Given the description of an element on the screen output the (x, y) to click on. 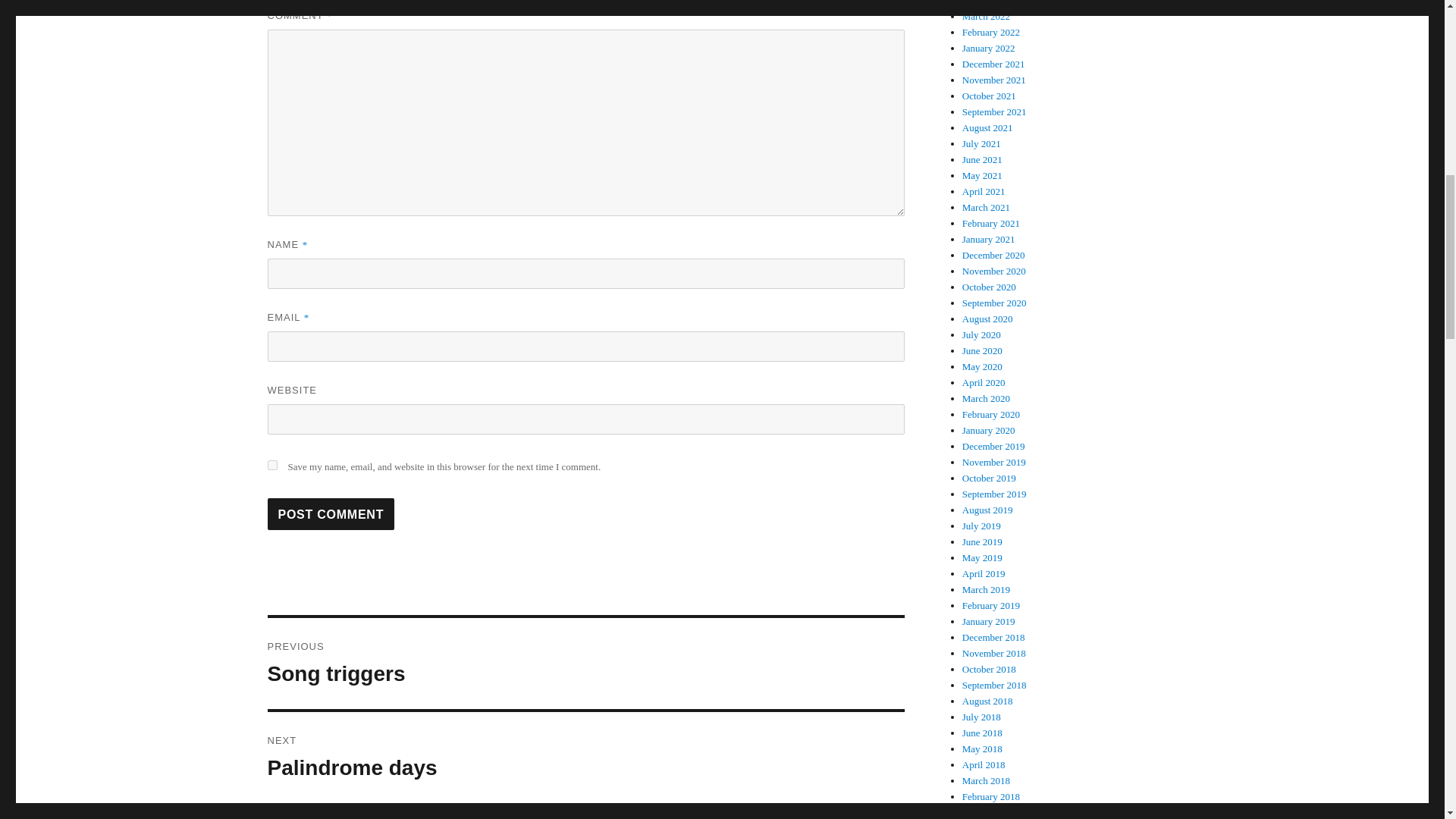
yes (271, 465)
March 2022 (986, 16)
Post Comment (330, 513)
February 2022 (991, 31)
January 2022 (585, 757)
April 2022 (585, 663)
Post Comment (988, 48)
